Given the description of an element on the screen output the (x, y) to click on. 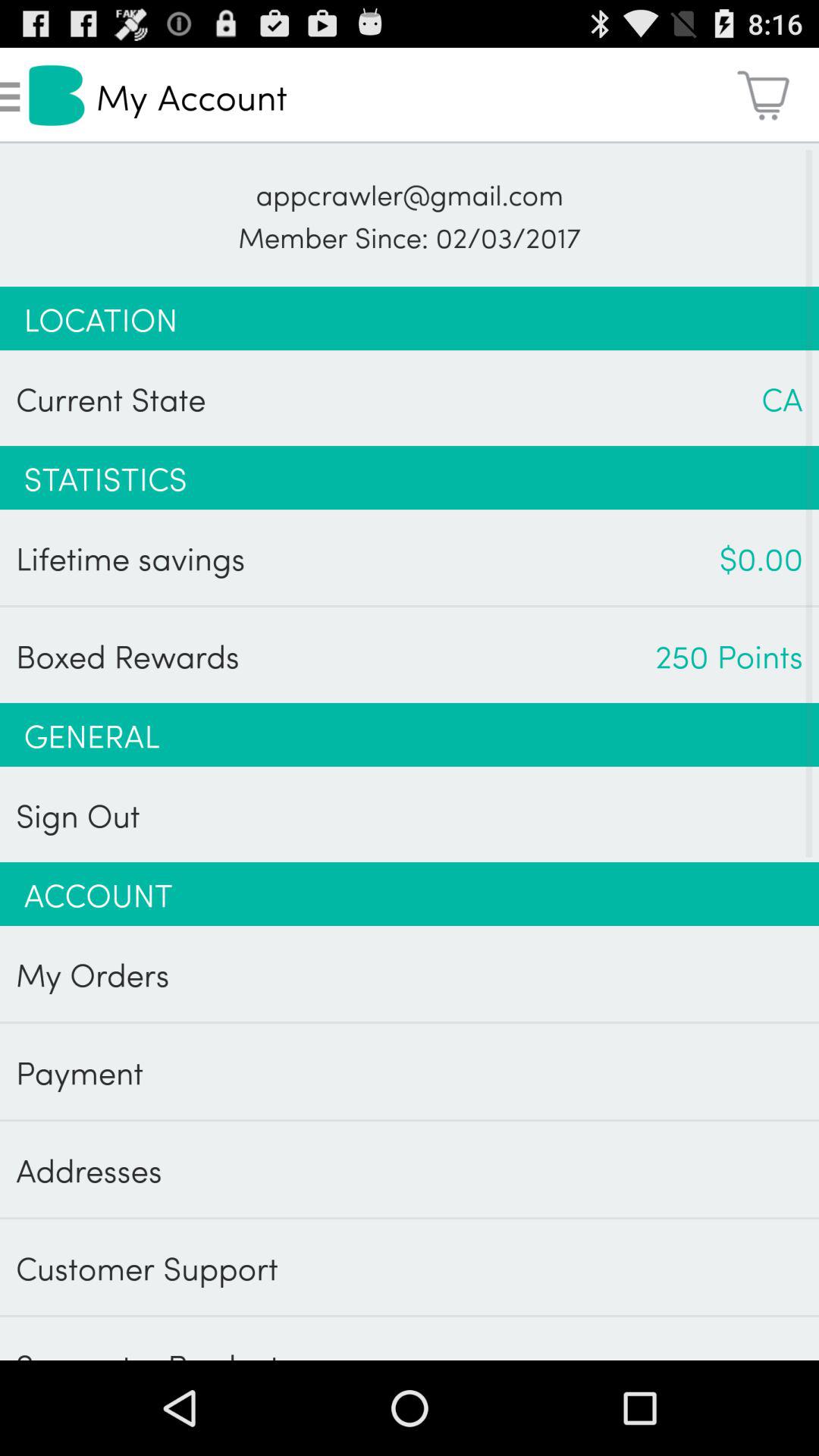
open statistics icon (409, 477)
